Given the description of an element on the screen output the (x, y) to click on. 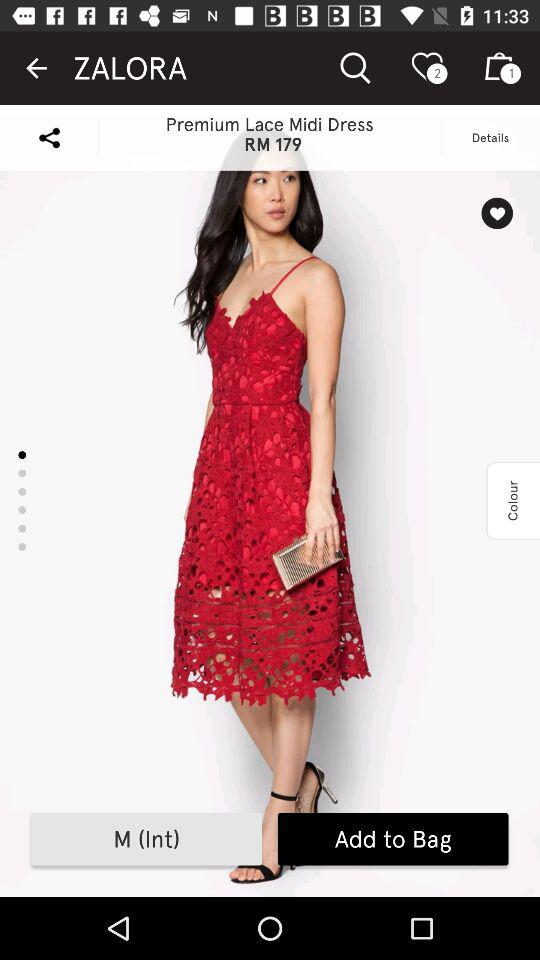
share post (49, 137)
